Given the description of an element on the screen output the (x, y) to click on. 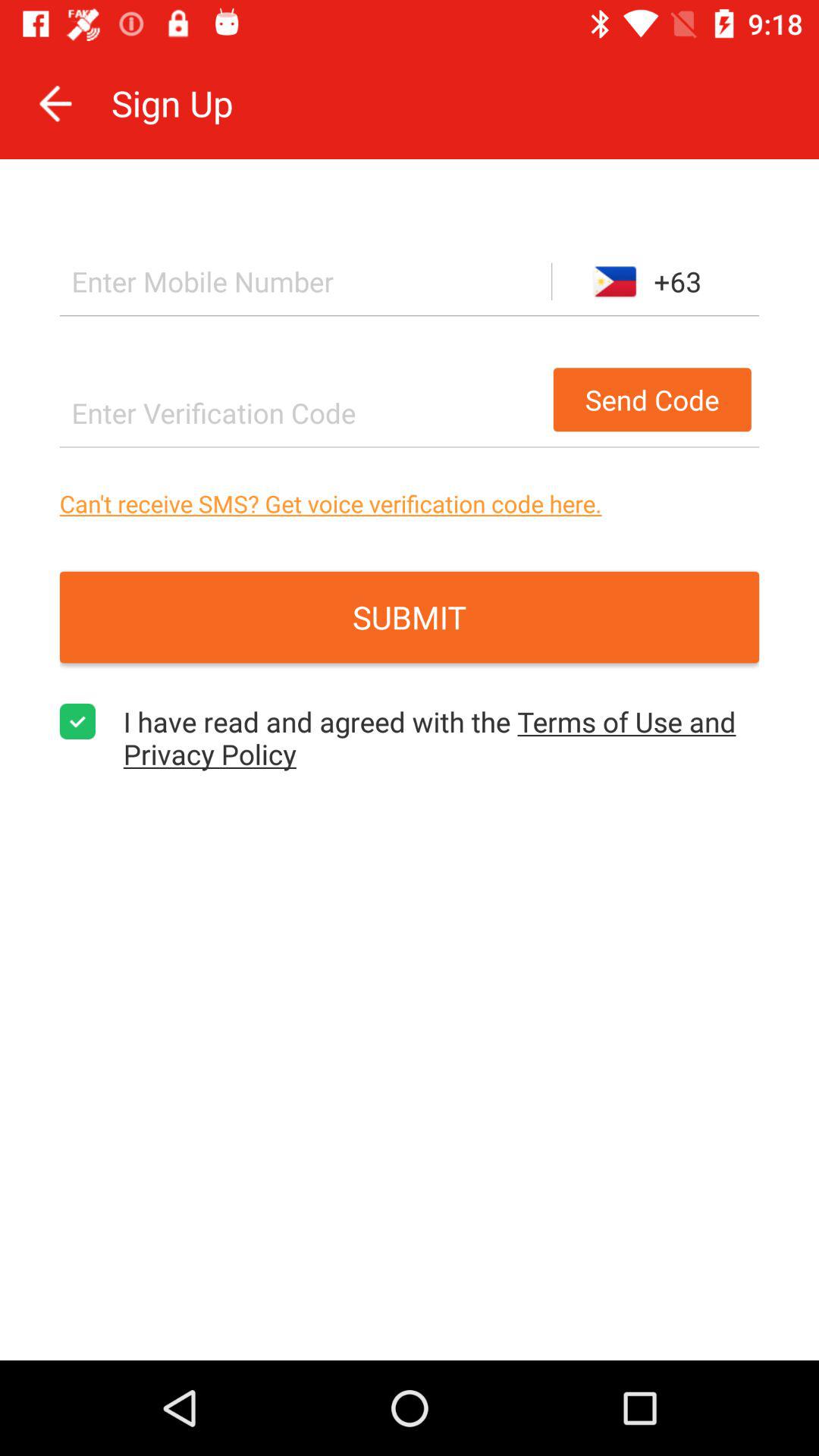
swipe to i have read icon (441, 737)
